Given the description of an element on the screen output the (x, y) to click on. 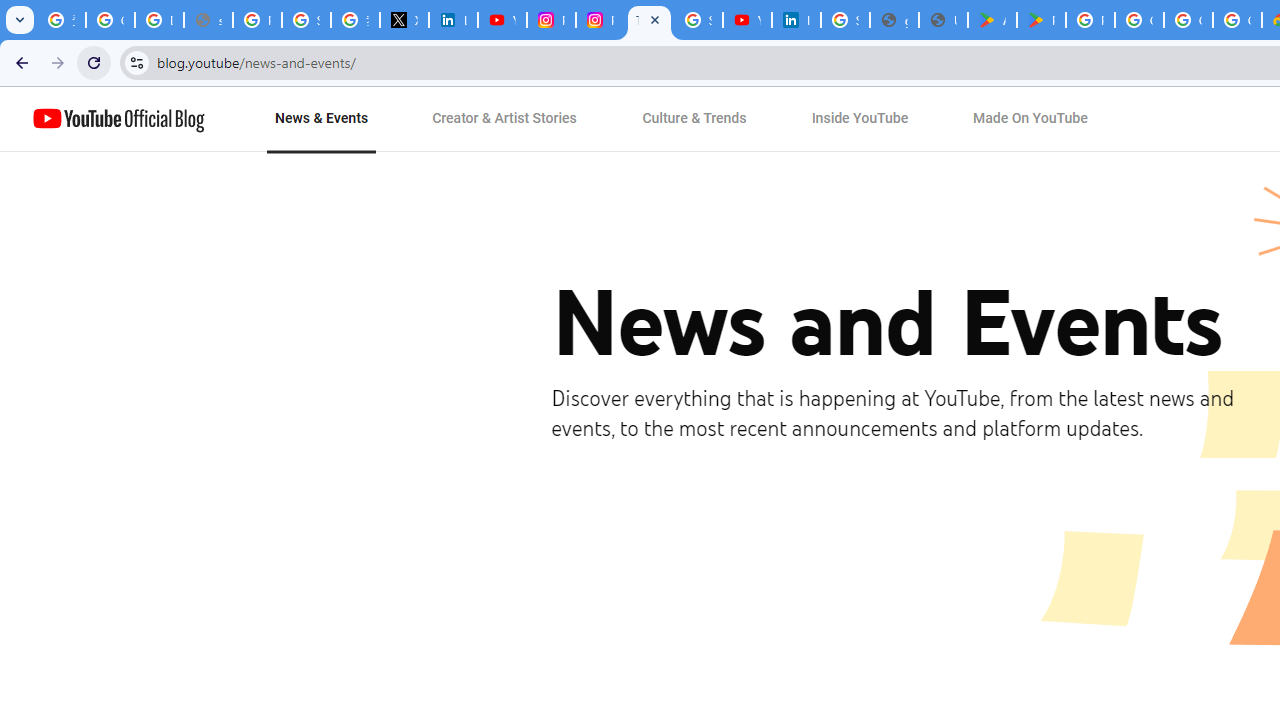
PAW Patrol Rescue World - Apps on Google Play (1041, 20)
YouTube Content Monetization Policies - How YouTube Works (502, 20)
X (404, 20)
LinkedIn Privacy Policy (452, 20)
Sign in - Google Accounts (306, 20)
Android Apps on Google Play (992, 20)
